Given the description of an element on the screen output the (x, y) to click on. 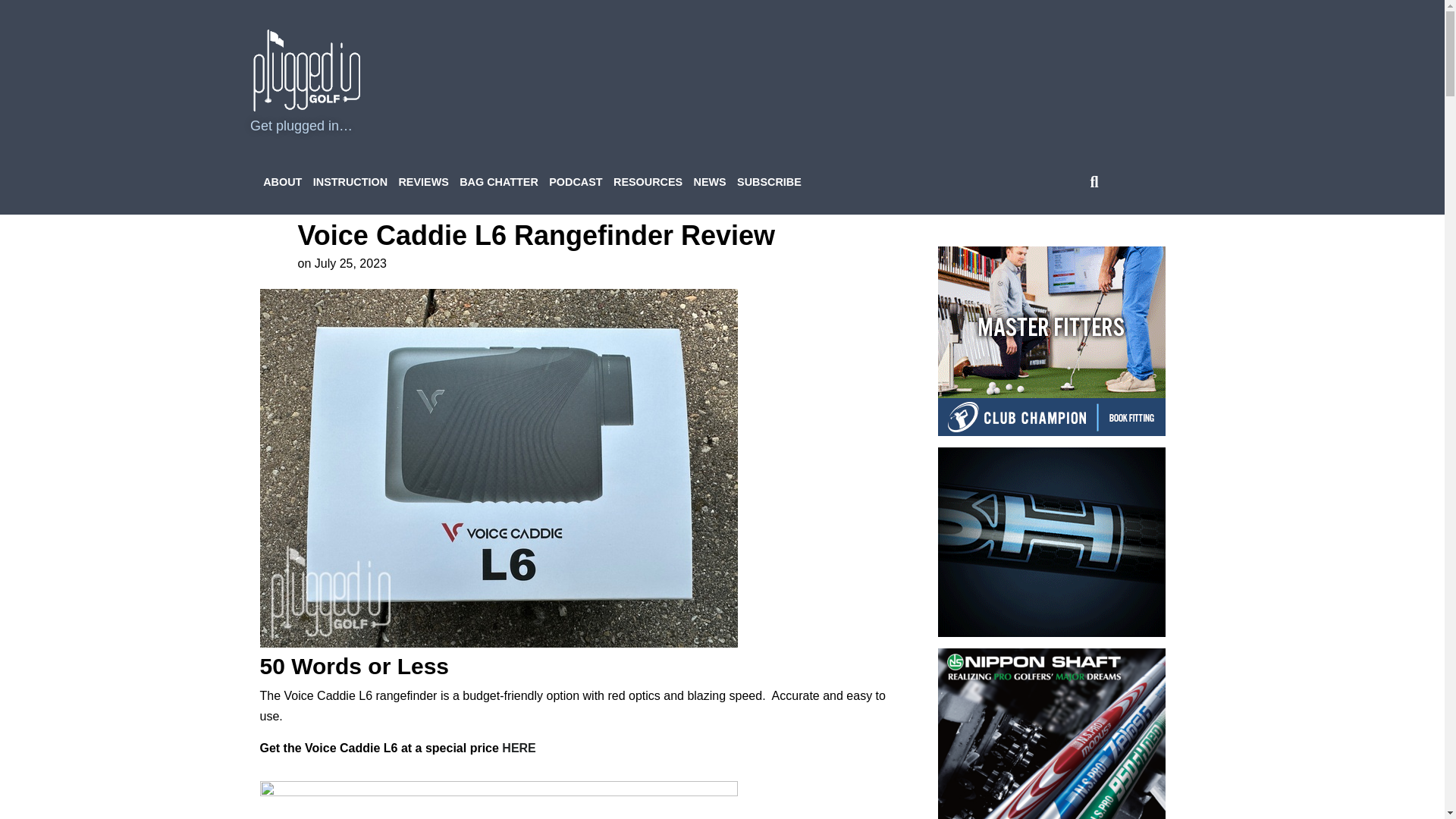
ABOUT (282, 181)
REVIEWS (423, 181)
INSTRUCTION (350, 181)
search-button (1093, 182)
Plugged-In-Golf-White-on-Blue-e1597419240829 (307, 70)
BAG CHATTER (498, 181)
